Given the description of an element on the screen output the (x, y) to click on. 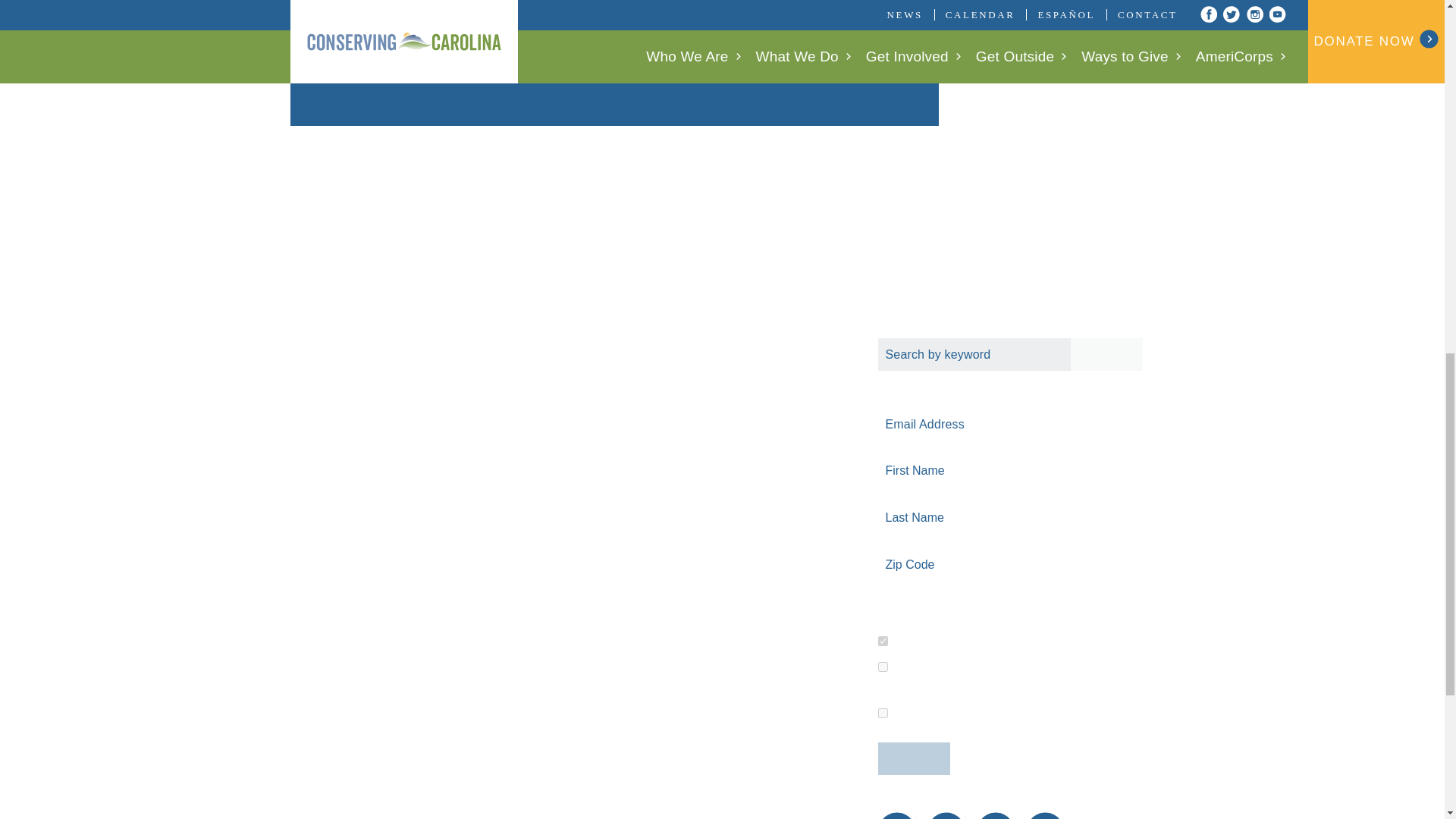
Visit Conserving Carolina on Instagram (995, 815)
Search for: (1009, 354)
Visit Conserving Carolina on Facebook (896, 815)
ae981700-183f-11e9-858d-d4ae529a848a (882, 713)
SUBSCRIBE (913, 758)
Visit Conserving Carolina on YouTube (1045, 815)
Search (1106, 354)
Visit Conserving Carolina on Twitter (946, 815)
c3fd32a0-b885-11e5-855a-d4ae52733d3a (882, 641)
bf404fa0-183f-11e9-858d-d4ae529a848a (882, 666)
